Given the description of an element on the screen output the (x, y) to click on. 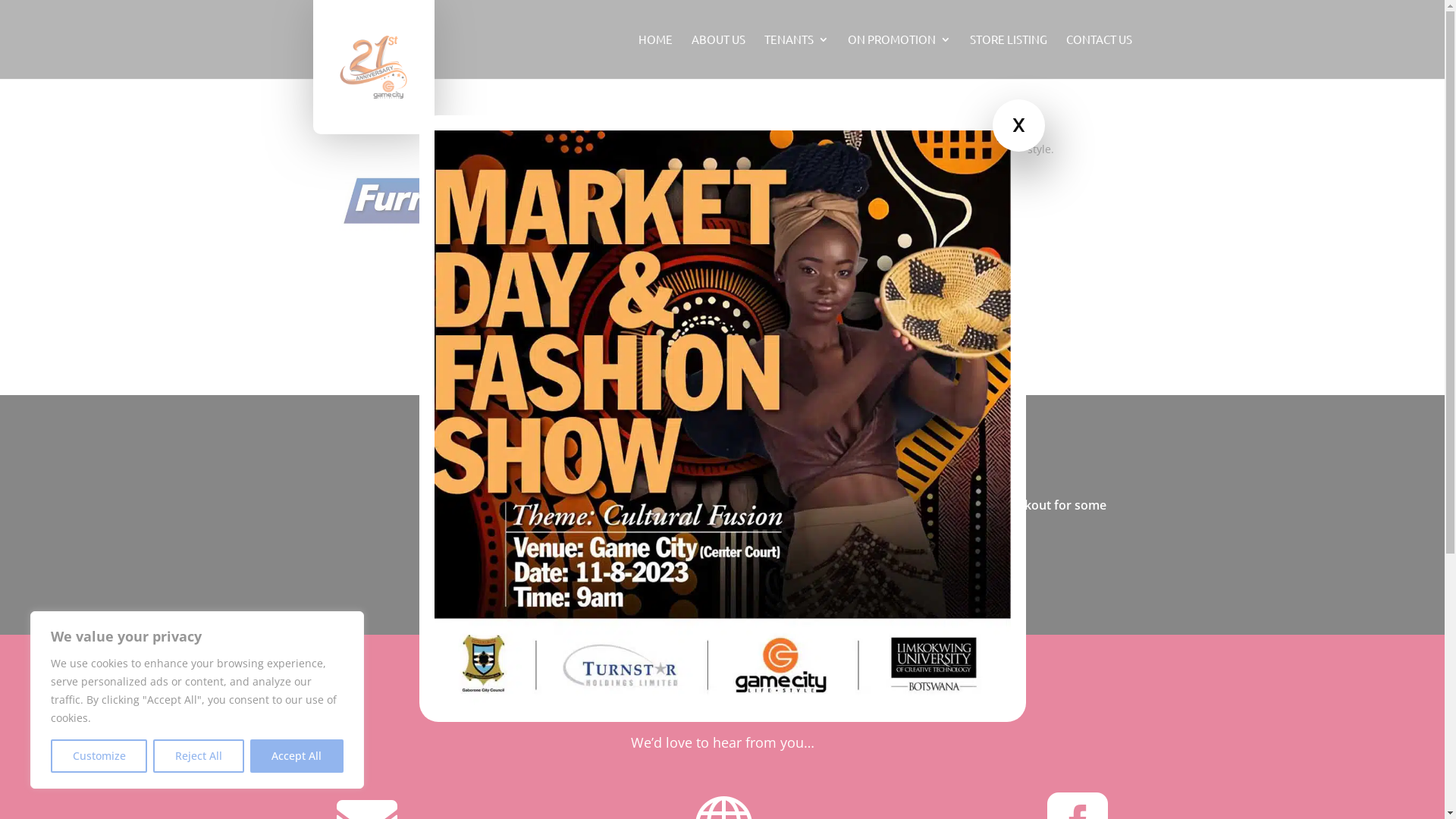
CONTACT US Element type: text (1099, 56)
TENANTS Element type: text (796, 56)
x Element type: text (1017, 125)
STORE LISTING Element type: text (1007, 56)
Accept All Element type: text (296, 755)
ABOUT US Element type: text (718, 56)
Turnstar-Birthday-Final Element type: hover (554, 515)
ON PROMOTION Element type: text (898, 56)
HOME Element type: text (655, 56)
Customize Element type: text (98, 755)
Follow on Twitter Element type: hover (642, 315)
Follow on Facebook Element type: hover (612, 315)
Market-Day Element type: hover (721, 702)
Furnmart-Store-Logo Element type: hover (433, 257)
Reject All Element type: text (198, 755)
